Given the description of an element on the screen output the (x, y) to click on. 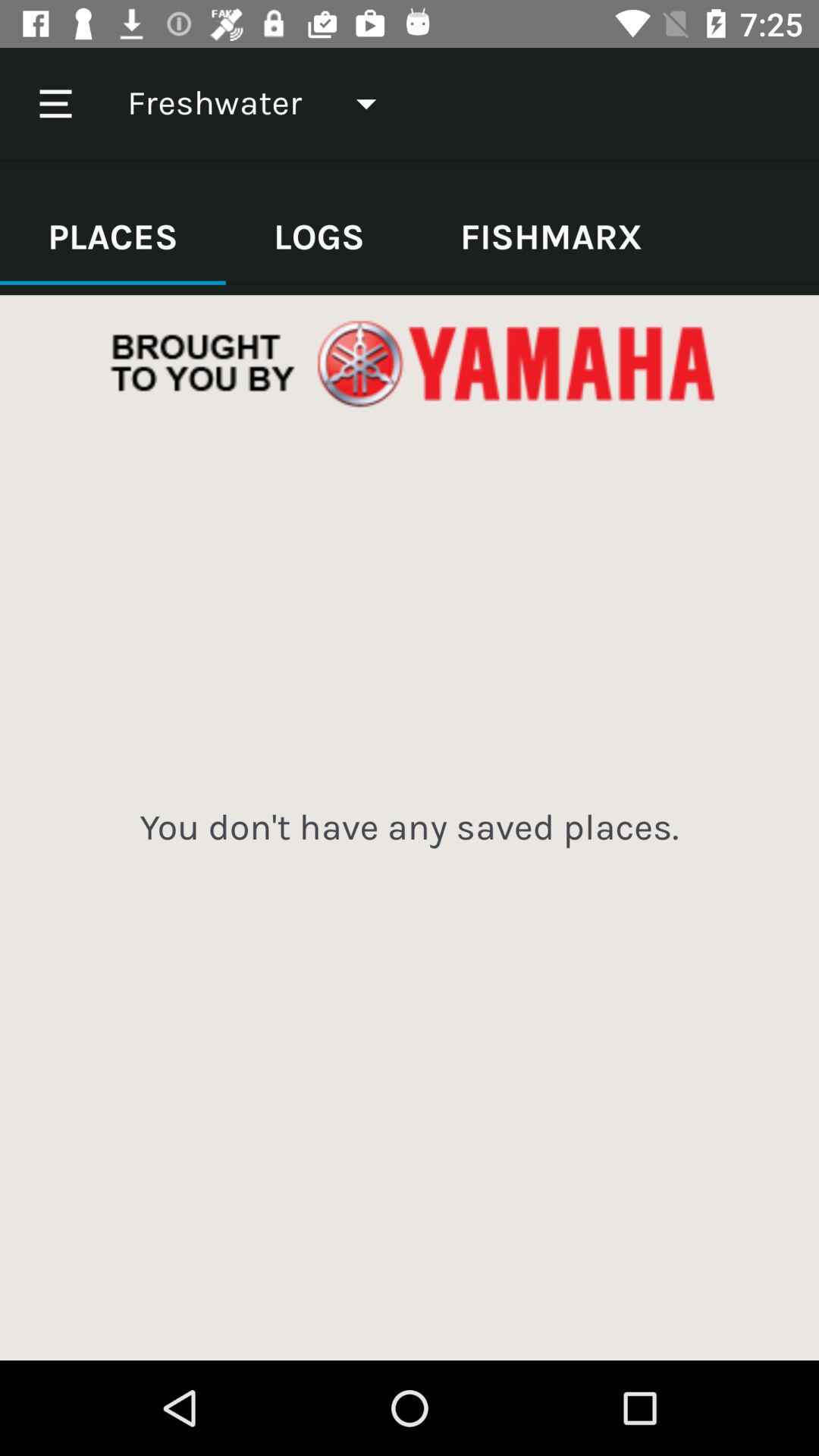
open advertisement (409, 364)
